Given the description of an element on the screen output the (x, y) to click on. 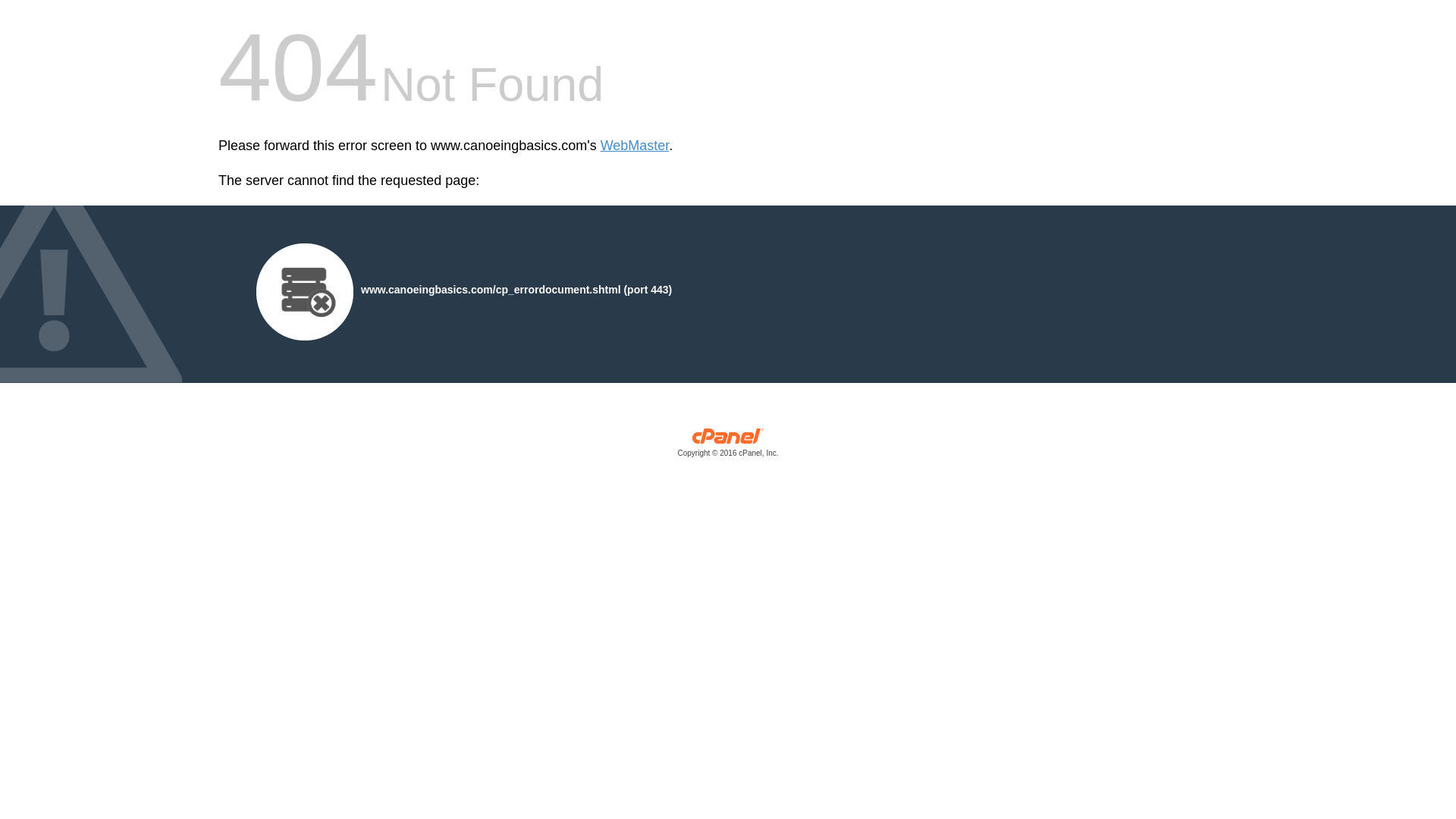
cPanel, Inc. (727, 446)
WebMaster (634, 145)
